Given the description of an element on the screen output the (x, y) to click on. 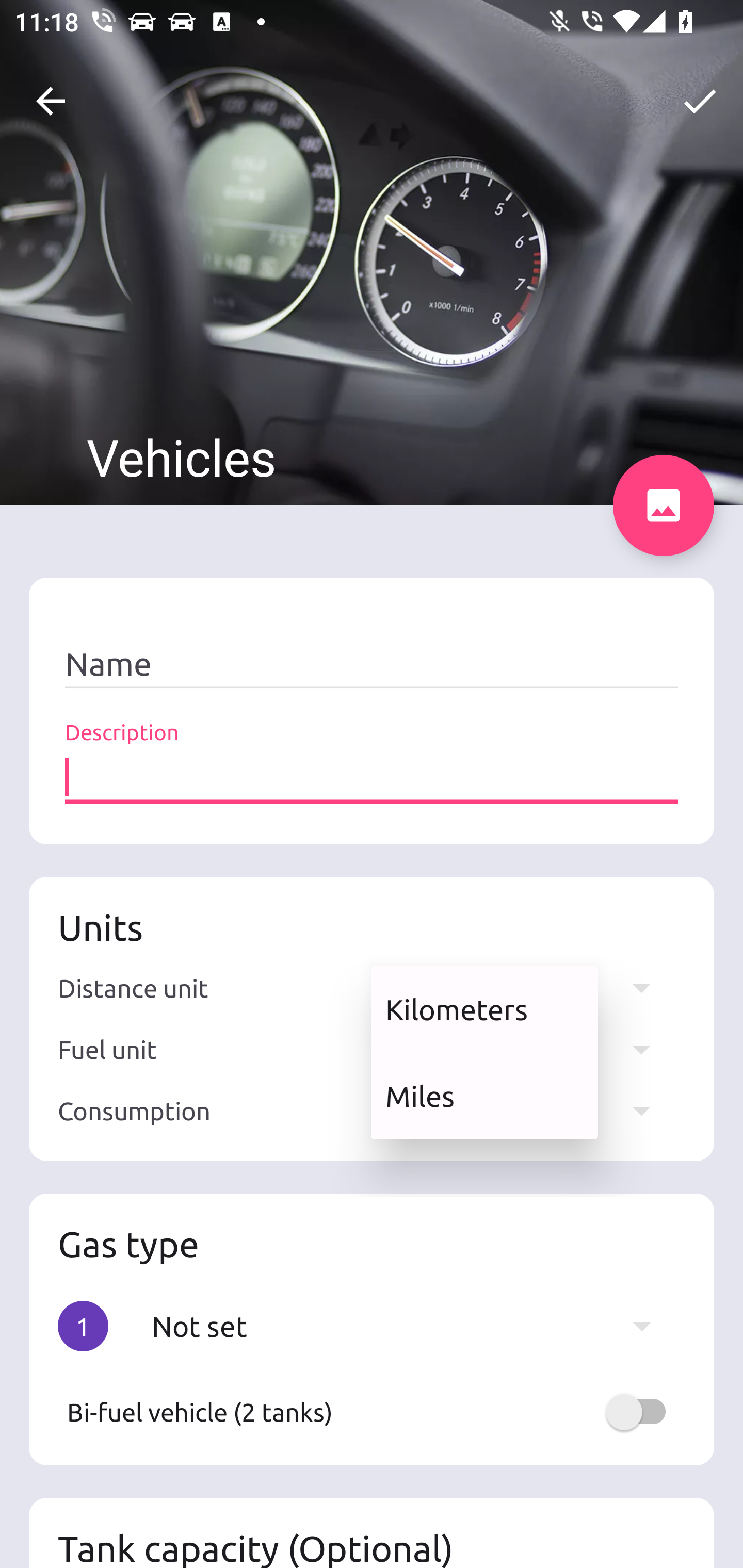
Kilometers (484, 1008)
Miles (484, 1095)
